Given the description of an element on the screen output the (x, y) to click on. 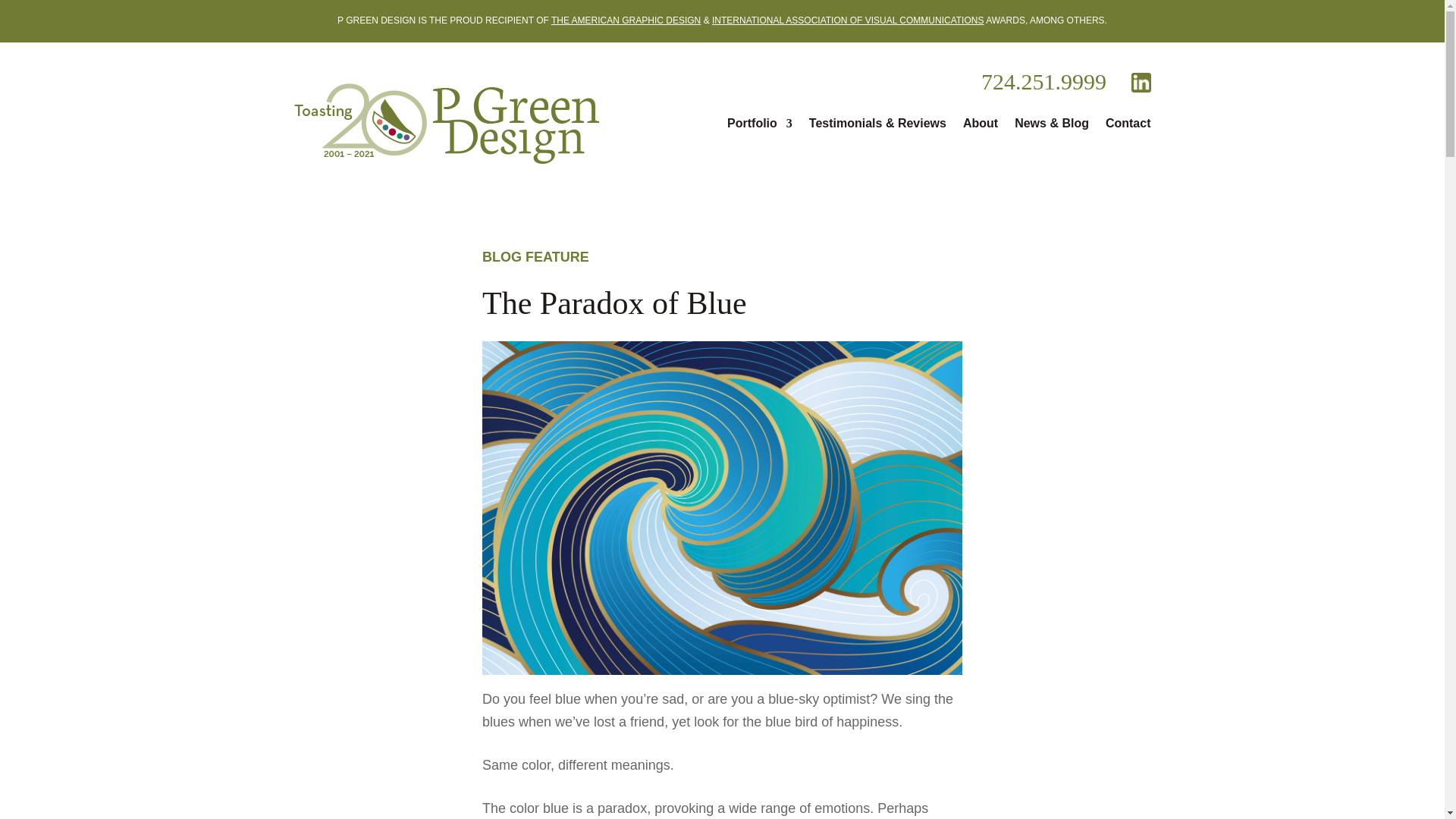
THE AMERICAN GRAPHIC DESIGN (625, 20)
INTERNATIONAL ASSOCIATION OF VISUAL COMMUNICATIONS (847, 20)
